Given the description of an element on the screen output the (x, y) to click on. 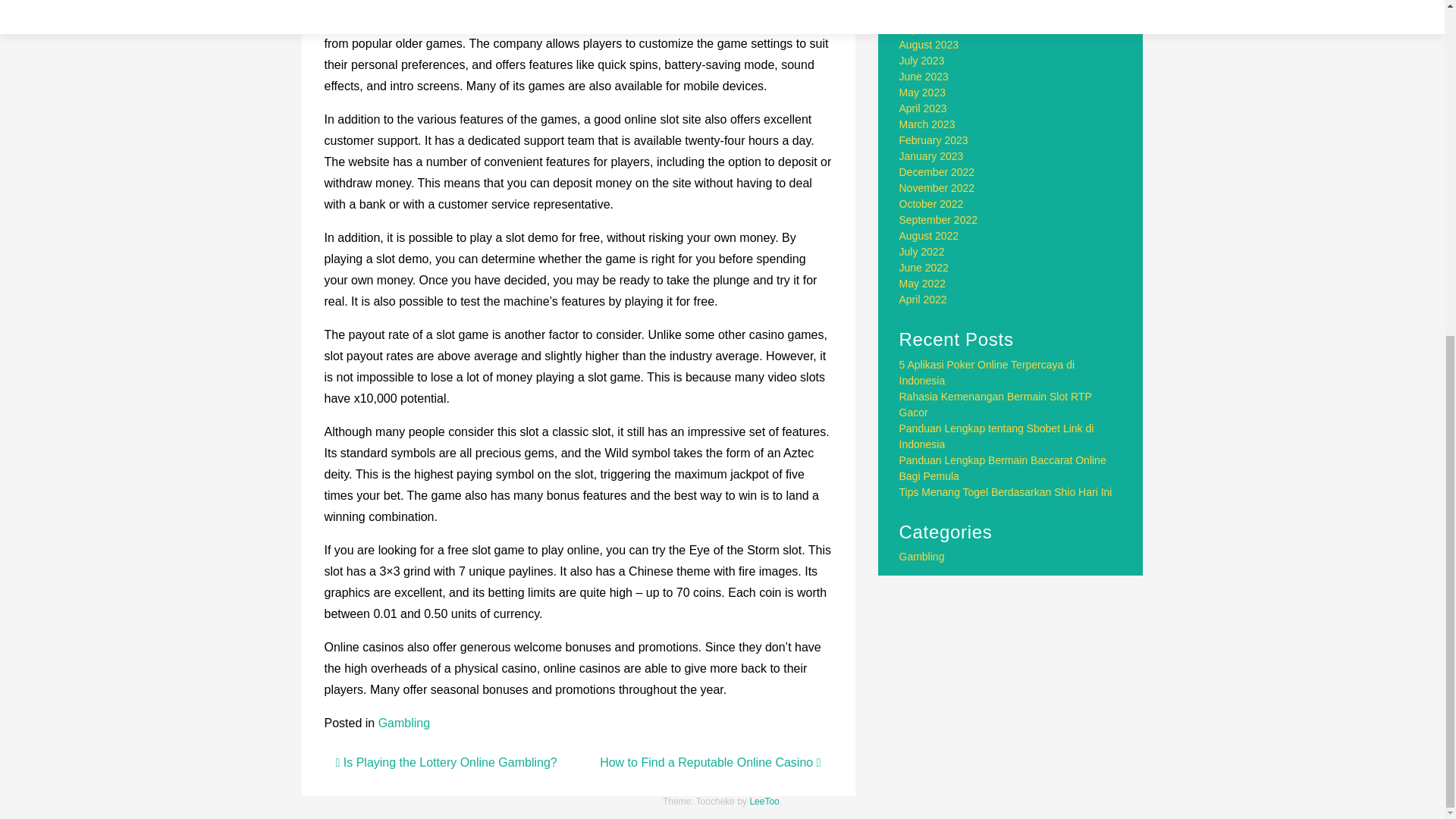
Gambling (403, 722)
September 2022 (938, 219)
May 2022 (921, 283)
November 2023 (937, 1)
5 Aplikasi Poker Online Terpercaya di Indonesia (987, 372)
Rahasia Kemenangan Bermain Slot RTP Gacor (995, 404)
June 2022 (924, 267)
October 2022 (931, 203)
July 2023 (921, 60)
April 2023 (923, 108)
June 2023 (924, 76)
April 2022 (923, 299)
December 2022 (937, 172)
July 2022 (921, 251)
May 2023 (921, 92)
